Given the description of an element on the screen output the (x, y) to click on. 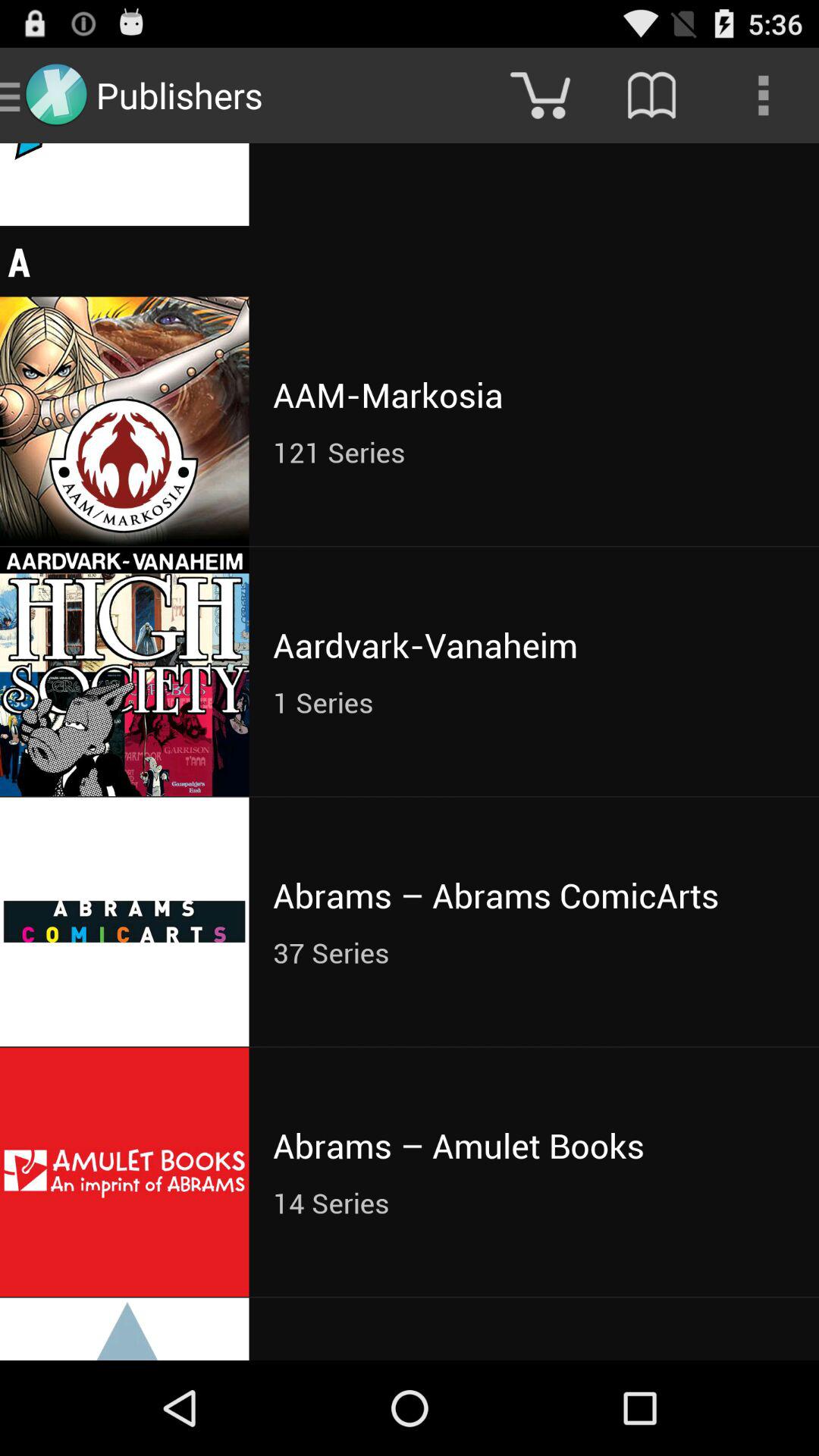
tap the item below the aam-markosia (534, 451)
